Given the description of an element on the screen output the (x, y) to click on. 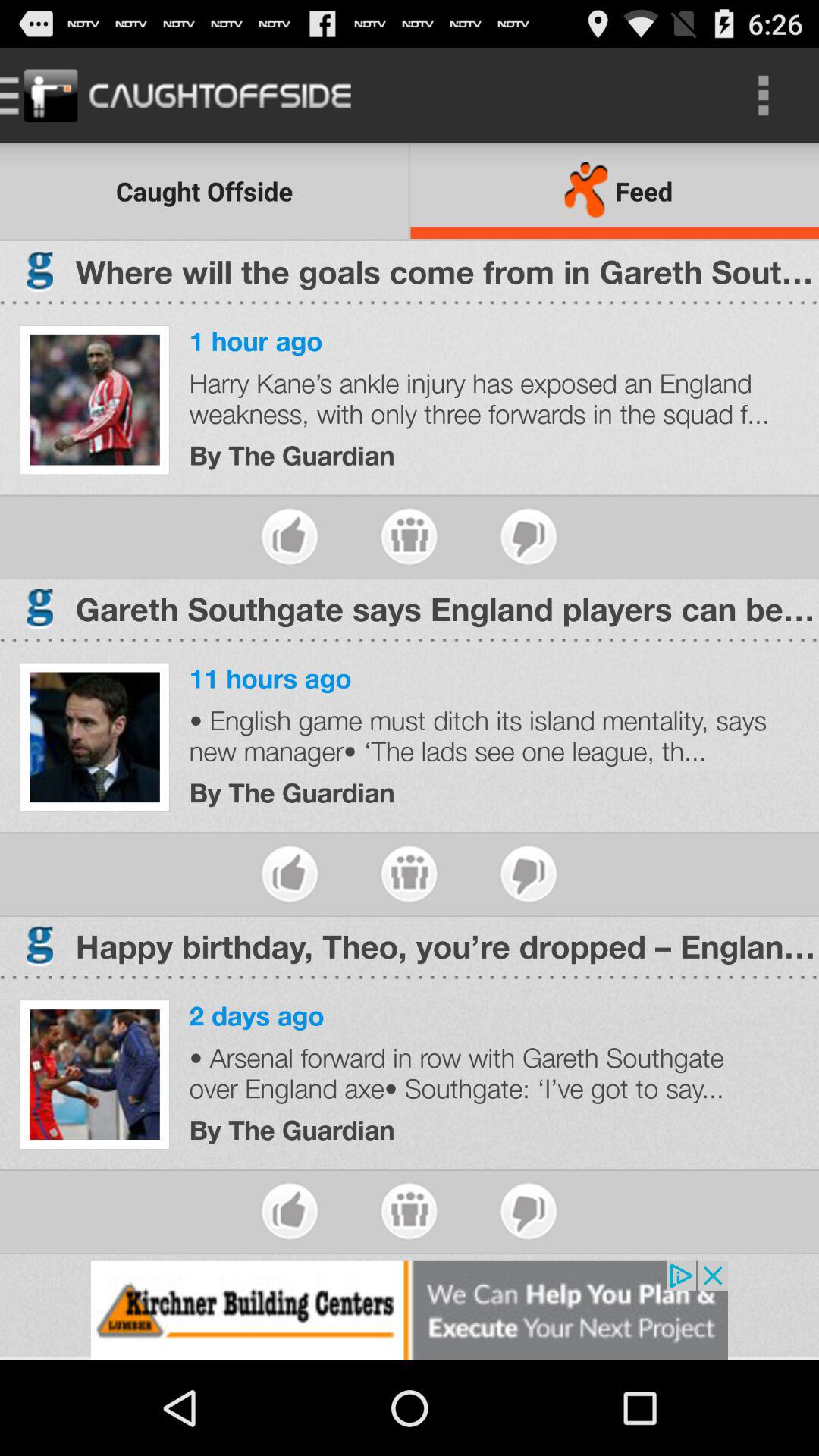
dislike the article (528, 536)
